Given the description of an element on the screen output the (x, y) to click on. 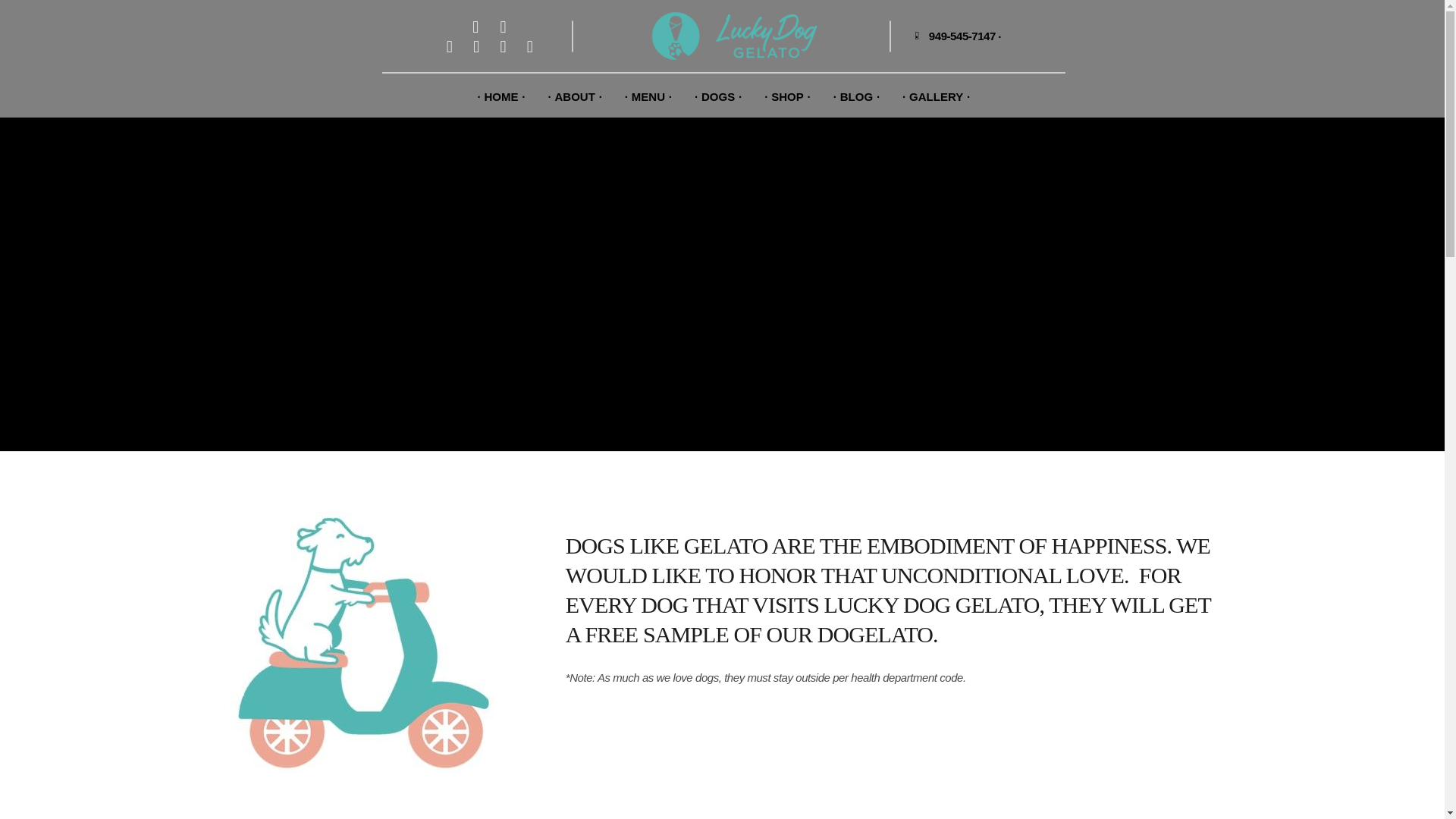
HOME (501, 95)
GALLERY (936, 95)
MENU (647, 95)
BLOG (856, 95)
ABOUT (574, 95)
SHOP (787, 95)
DOGS (717, 95)
